Given the description of an element on the screen output the (x, y) to click on. 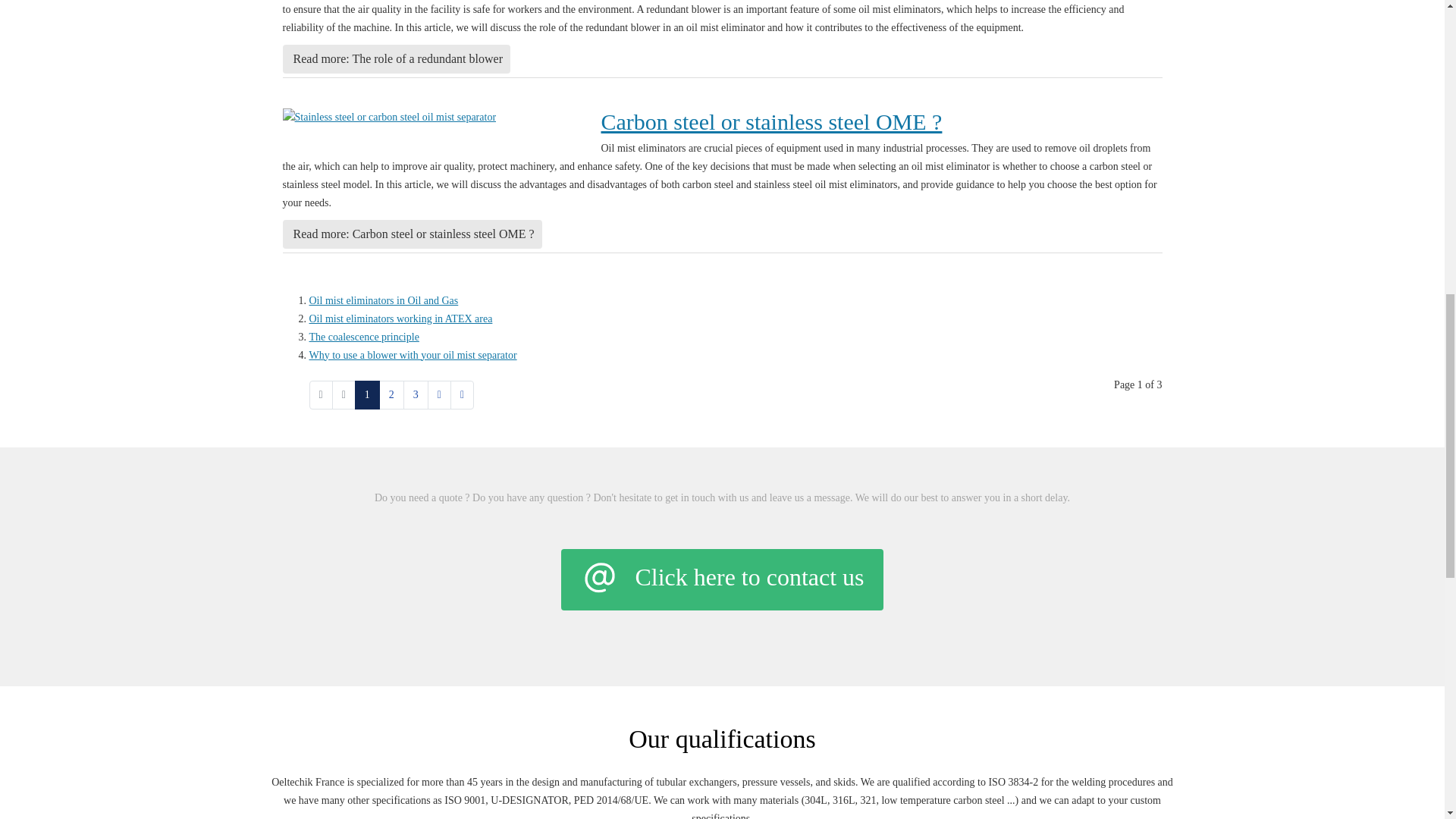
Carbon steel or stainless steel OME ? (770, 121)
Click here to contact us (721, 579)
Why to use a blower with your oil mist separator (412, 354)
Oil mist eliminators working in ATEX area (400, 317)
Read more: The role of a redundant blower (396, 59)
The coalescence principle (363, 336)
Read more: Carbon steel or stainless steel OME ? (411, 234)
Oil mist eliminators in Oil and Gas (383, 299)
